Given the description of an element on the screen output the (x, y) to click on. 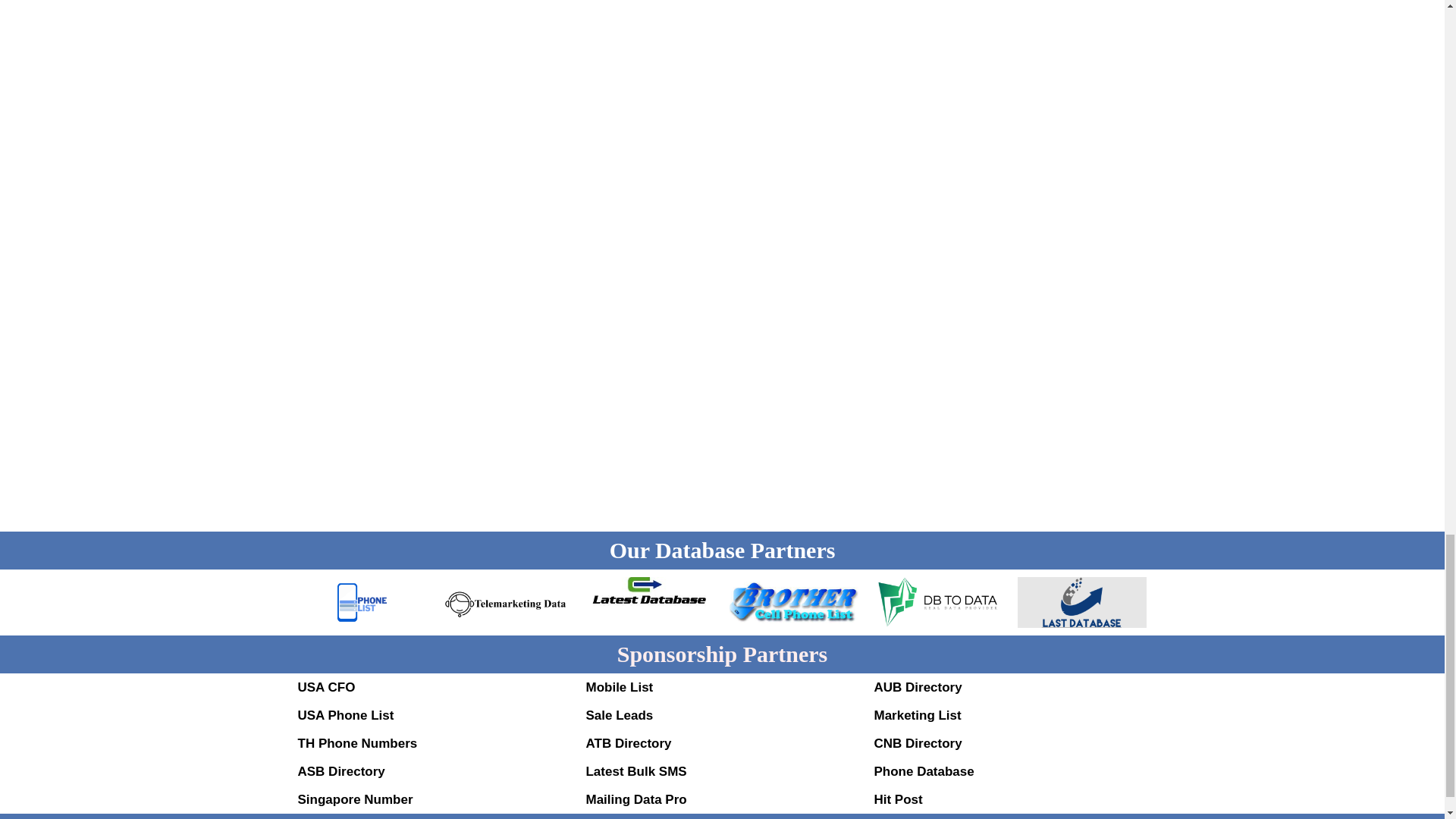
Submit (370, 421)
